Given the description of an element on the screen output the (x, y) to click on. 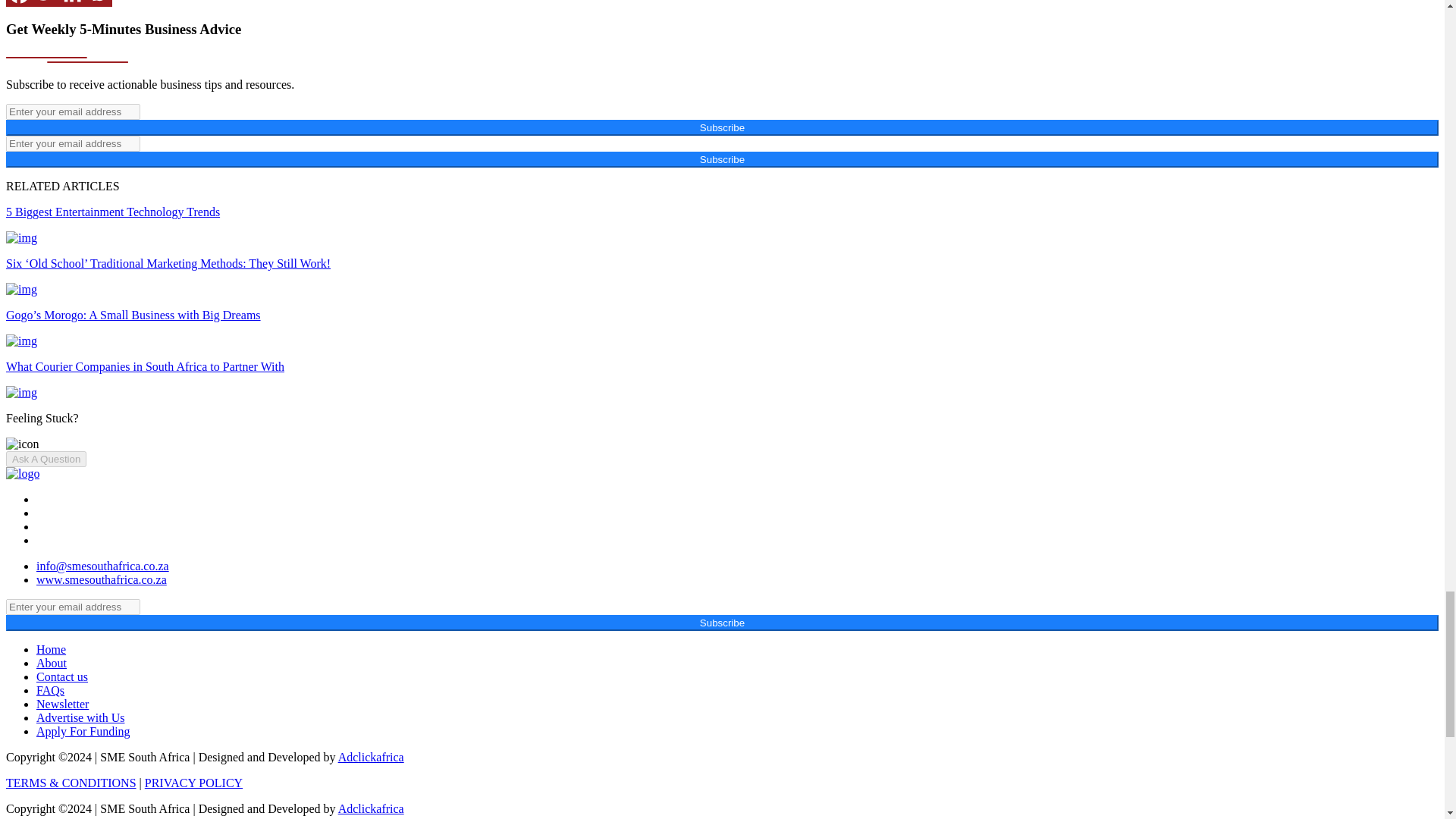
Linkedin (72, 3)
Whatsapp (98, 3)
Twitter (45, 3)
Facebook (18, 3)
